Given the description of an element on the screen output the (x, y) to click on. 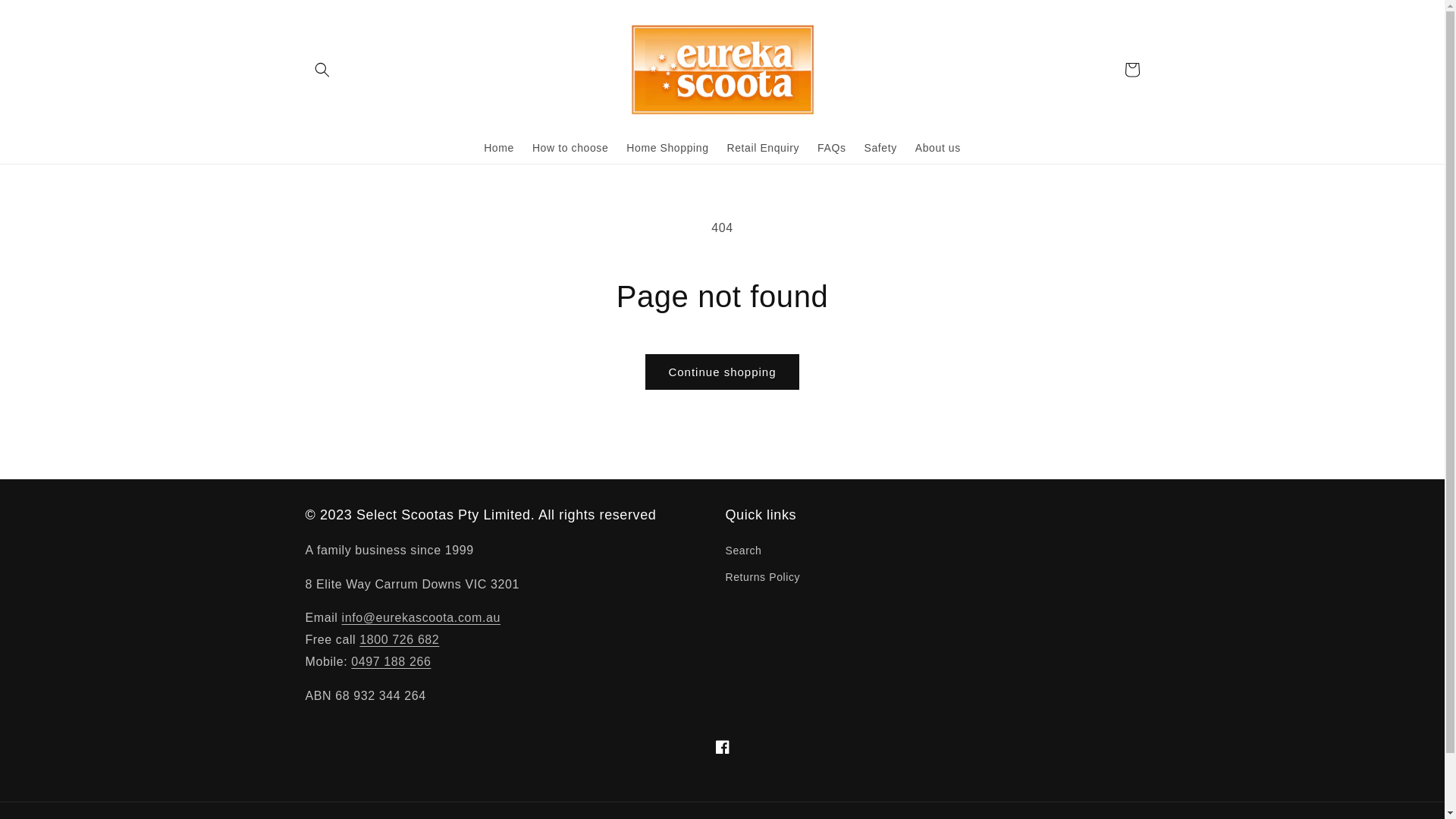
FAQs Element type: text (831, 147)
Facebook Element type: text (721, 746)
info@eurekascoota.com.au Element type: text (421, 617)
Retail Enquiry Element type: text (763, 147)
Cart Element type: text (1131, 69)
How to choose Element type: text (570, 147)
0497 188 266 Element type: text (390, 661)
Safety Element type: text (880, 147)
Search Element type: text (742, 552)
Continue shopping Element type: text (721, 371)
Home Shopping Element type: text (667, 147)
Home Element type: text (498, 147)
1800 726 682 Element type: text (399, 639)
About us Element type: text (937, 147)
Returns Policy Element type: text (762, 577)
